Given the description of an element on the screen output the (x, y) to click on. 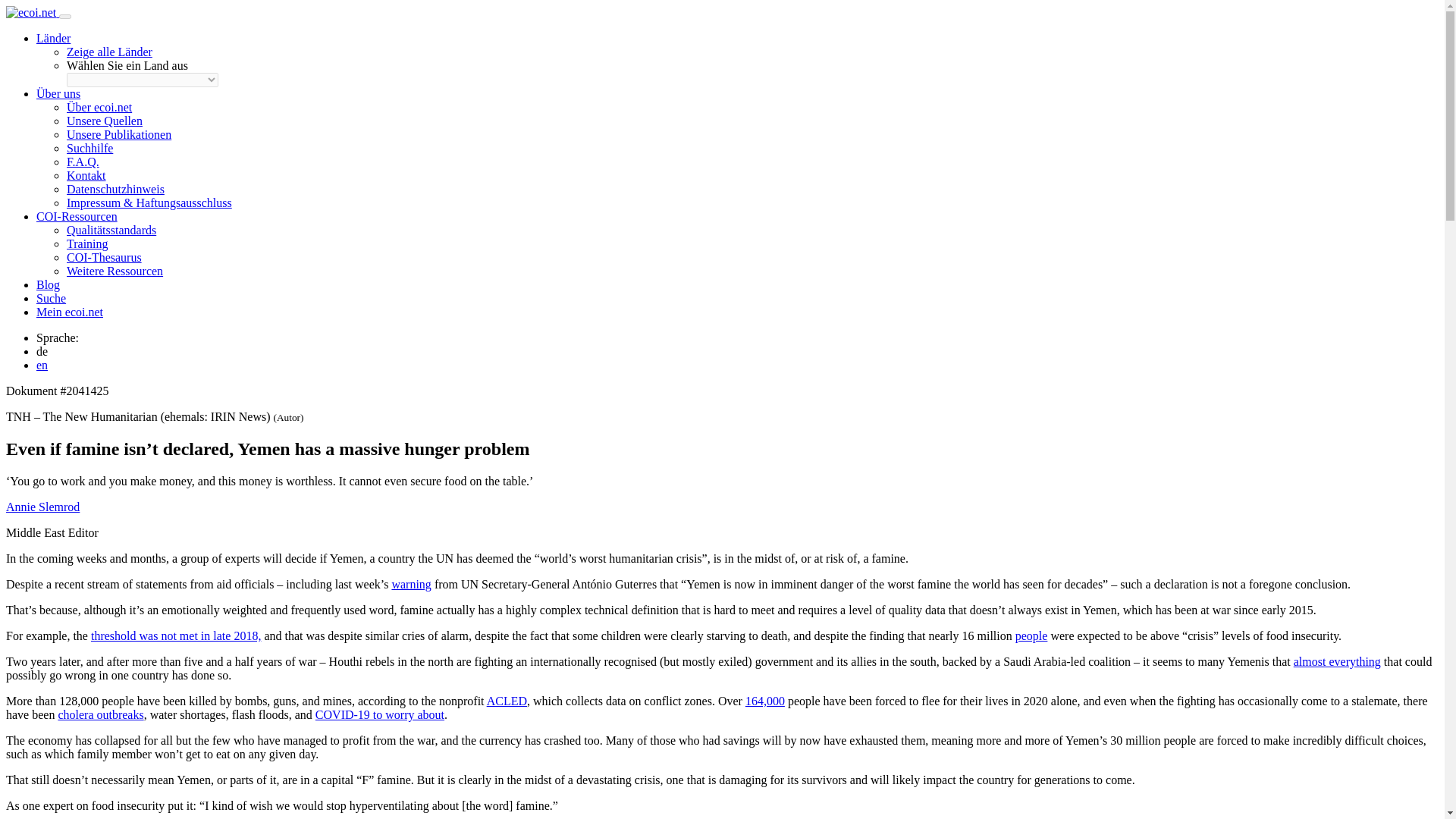
almost everything (1337, 661)
Suchhilfe (89, 147)
ACLED (506, 700)
people (1031, 635)
Suche (50, 297)
COI-Ressourcen (76, 215)
Weitere Ressourcen (114, 270)
warning (410, 584)
cholera outbreaks (100, 714)
Englisch (42, 364)
Training (86, 243)
Blog (47, 284)
F.A.Q. (82, 161)
Unsere Quellen (104, 120)
Annie Slemrod (42, 506)
